Given the description of an element on the screen output the (x, y) to click on. 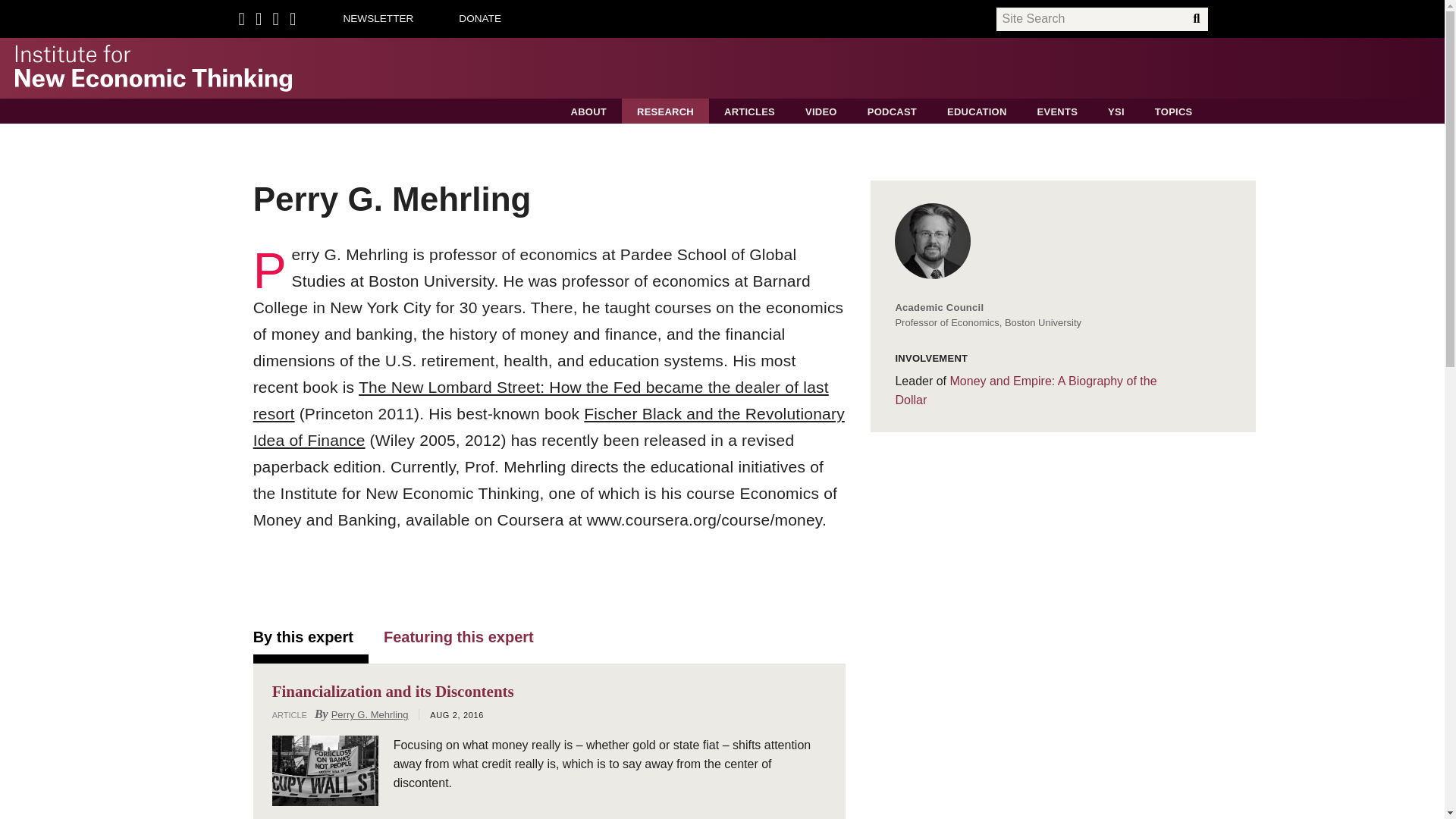
VIDEO (820, 110)
ARTICLES (749, 110)
ABOUT (588, 110)
PODCAST (891, 110)
TOPICS (1174, 110)
EVENTS (1057, 110)
EDUCATION (976, 110)
NEWSLETTER (377, 18)
DONATE (479, 18)
YSI (1116, 110)
RESEARCH (665, 110)
